Given the description of an element on the screen output the (x, y) to click on. 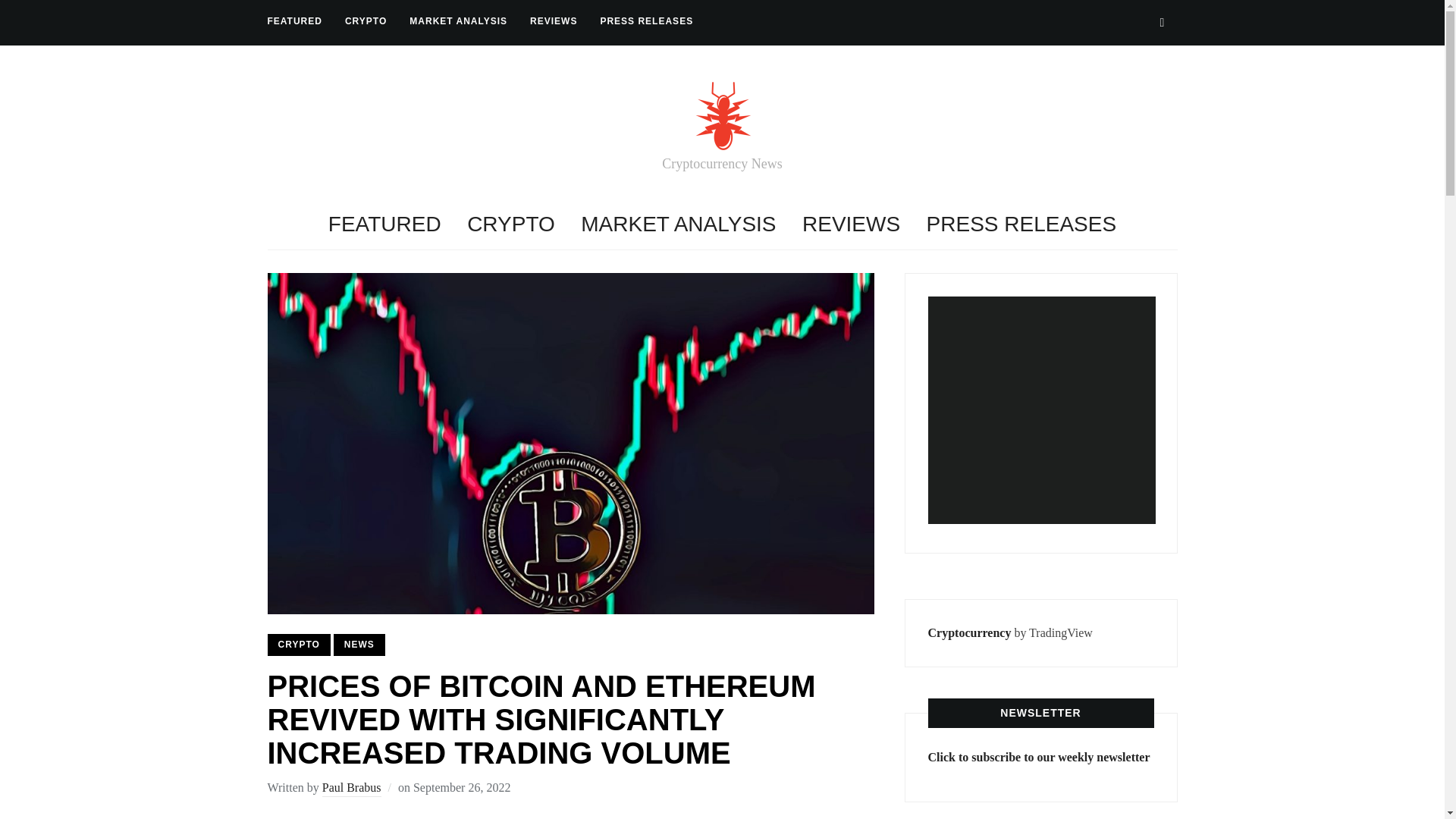
PRESS RELEASES (1021, 224)
MARKET ANALYSIS (678, 224)
PRESS RELEASES (646, 21)
Paul Brabus (351, 788)
Search (1161, 22)
MARKET ANALYSIS (457, 21)
CRYPTO (510, 224)
REVIEWS (850, 224)
Posts by Paul Brabus (351, 788)
FEATURED (385, 224)
Coin360.com: Cryptocurrency Market State (1042, 410)
REVIEWS (552, 21)
CRYPTO (366, 21)
NEWS (359, 644)
FEATURED (293, 21)
